Given the description of an element on the screen output the (x, y) to click on. 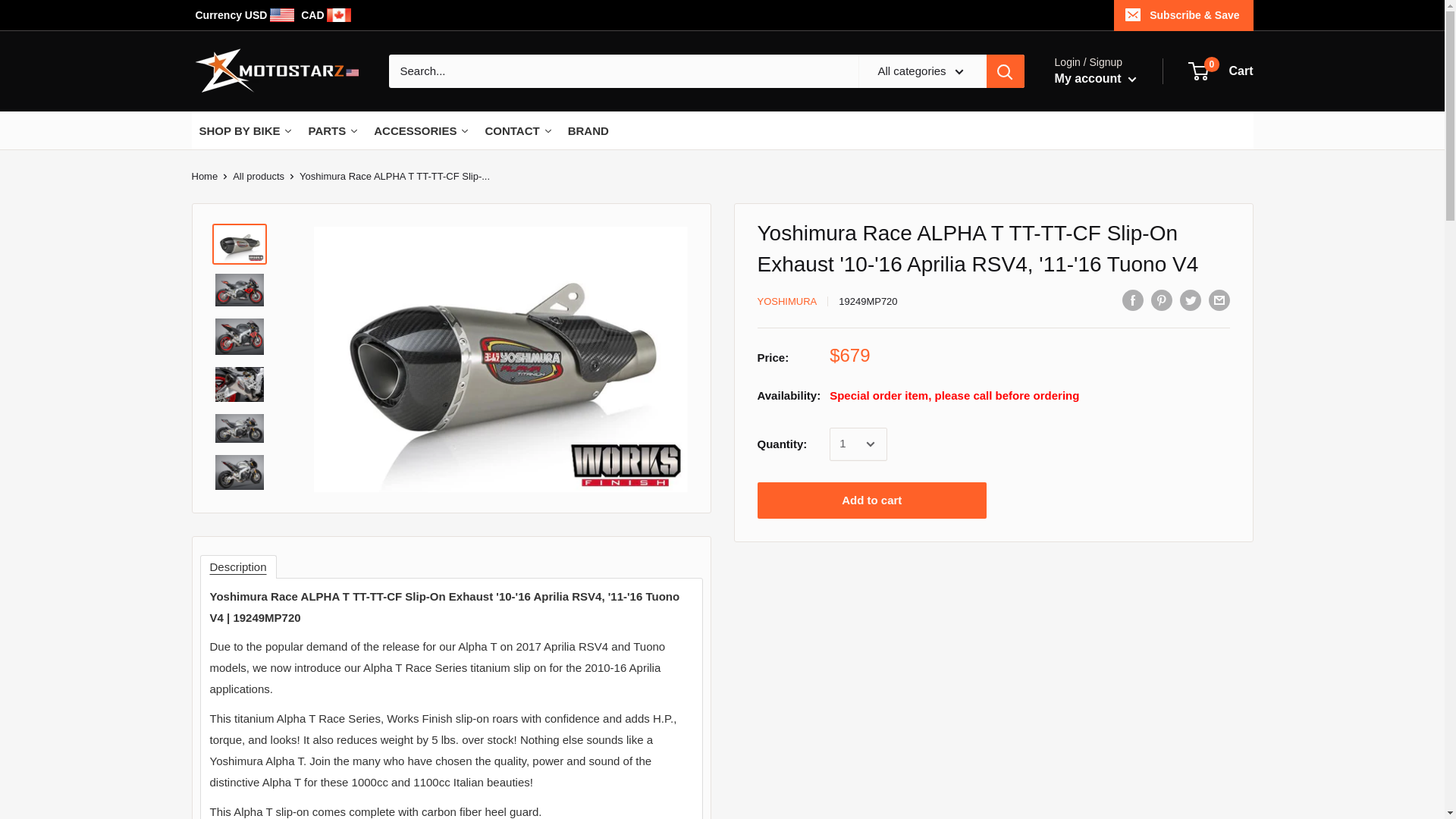
My account (1095, 78)
All products (1220, 70)
Home (257, 175)
Currency USD (203, 175)
CAD (246, 15)
PARTS (325, 15)
CONTACT (332, 130)
ACCESSORIES (518, 130)
SHOP BY BIKE (421, 130)
